Given the description of an element on the screen output the (x, y) to click on. 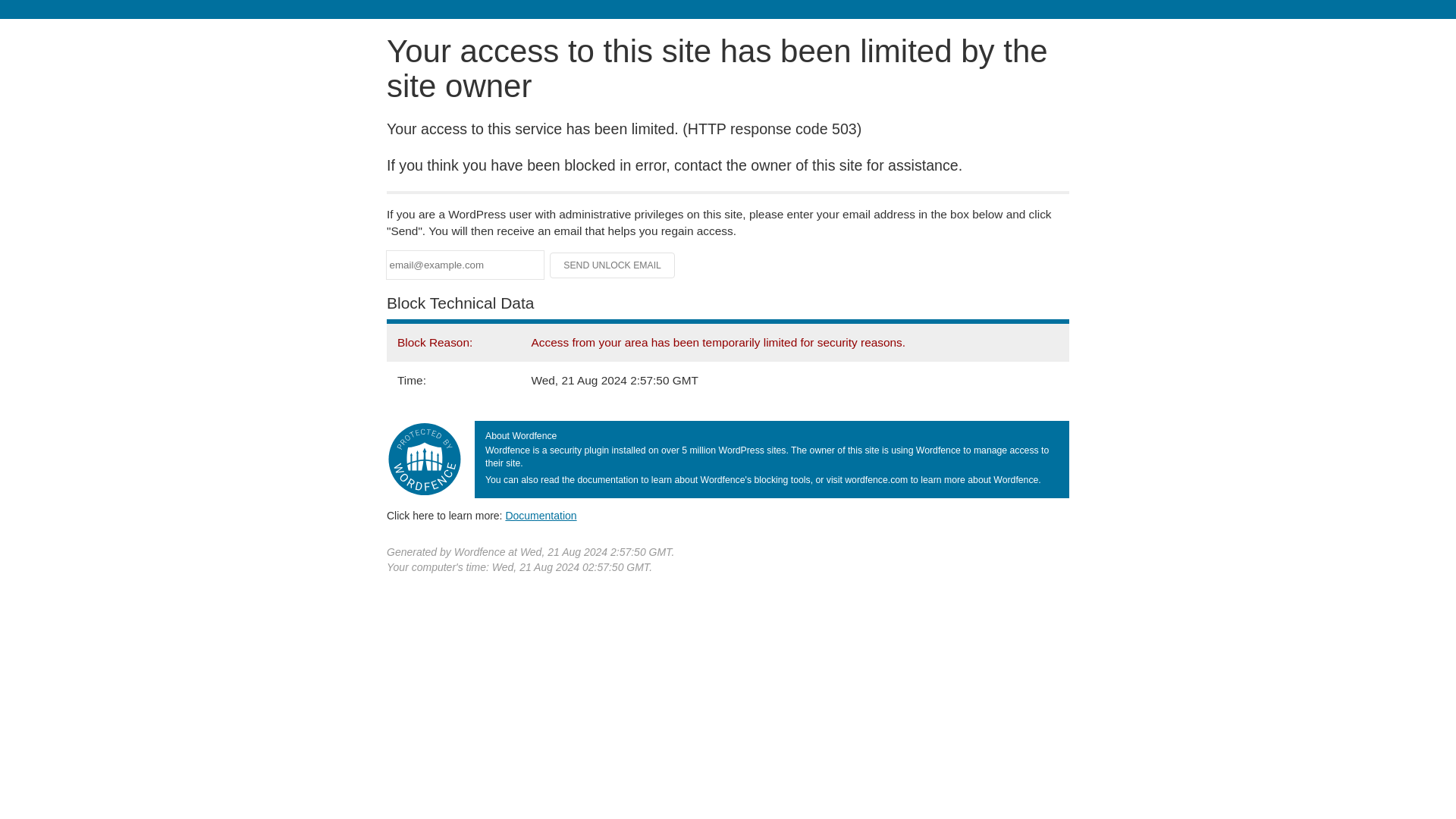
Documentation (540, 515)
Send Unlock Email (612, 265)
Send Unlock Email (612, 265)
